Given the description of an element on the screen output the (x, y) to click on. 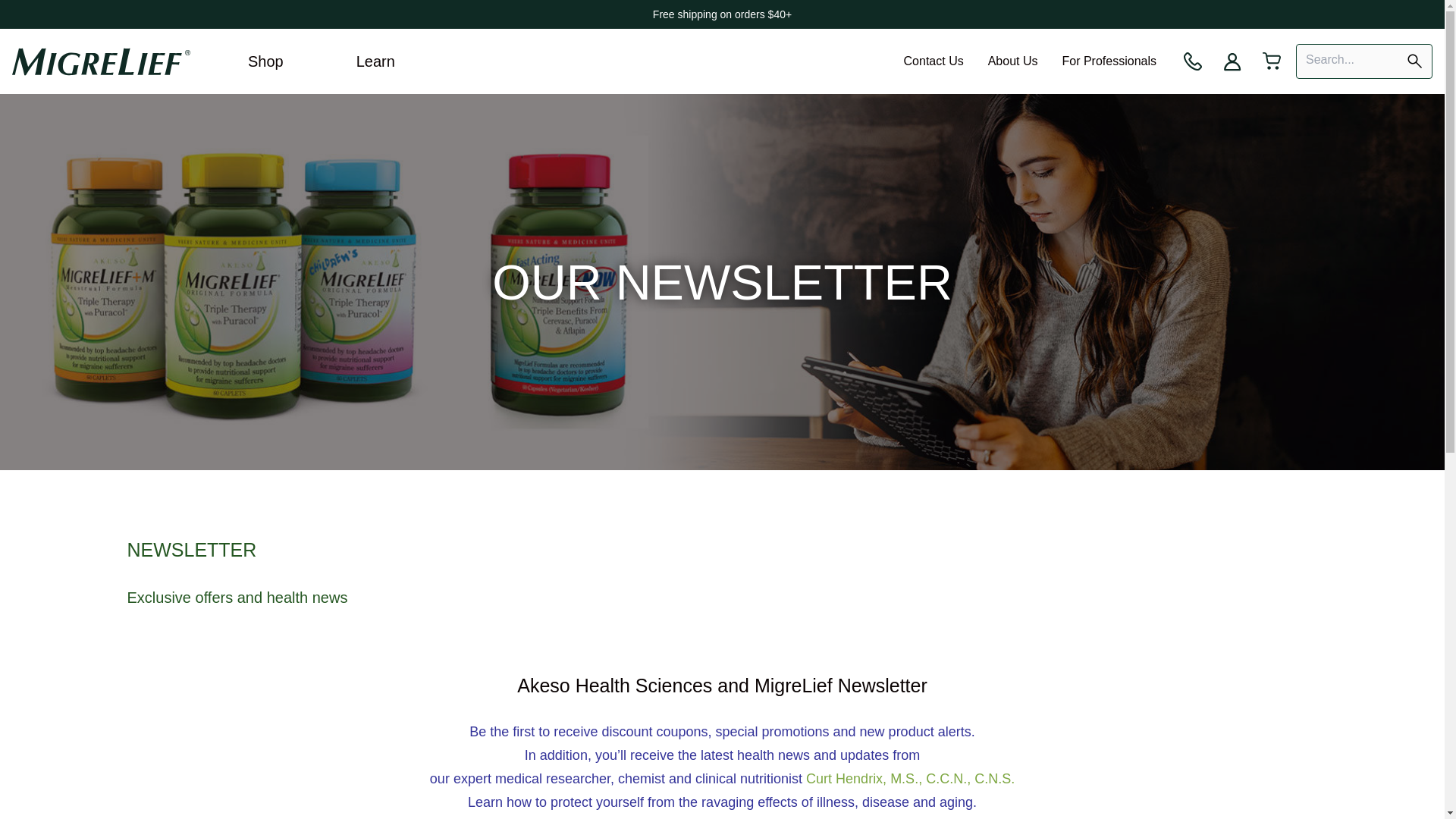
Call us (1192, 61)
For Professionals (1109, 60)
Learn (375, 61)
View your cart (1271, 61)
Access your account (1232, 61)
About Us (1012, 60)
Contact Us (933, 60)
Search (1414, 61)
MigreLief (100, 60)
Shop (265, 61)
